Given the description of an element on the screen output the (x, y) to click on. 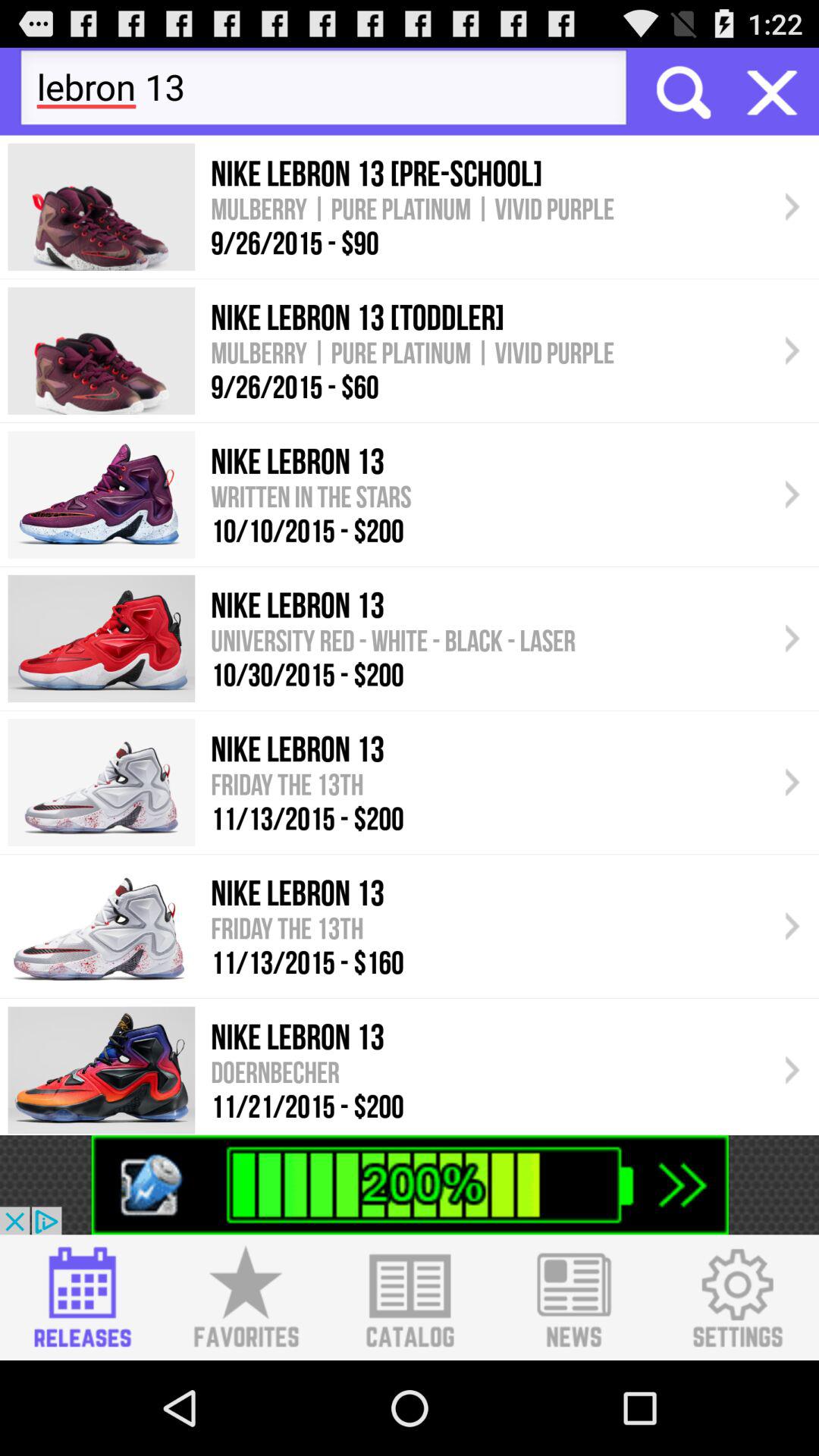
favorites (245, 1297)
